Given the description of an element on the screen output the (x, y) to click on. 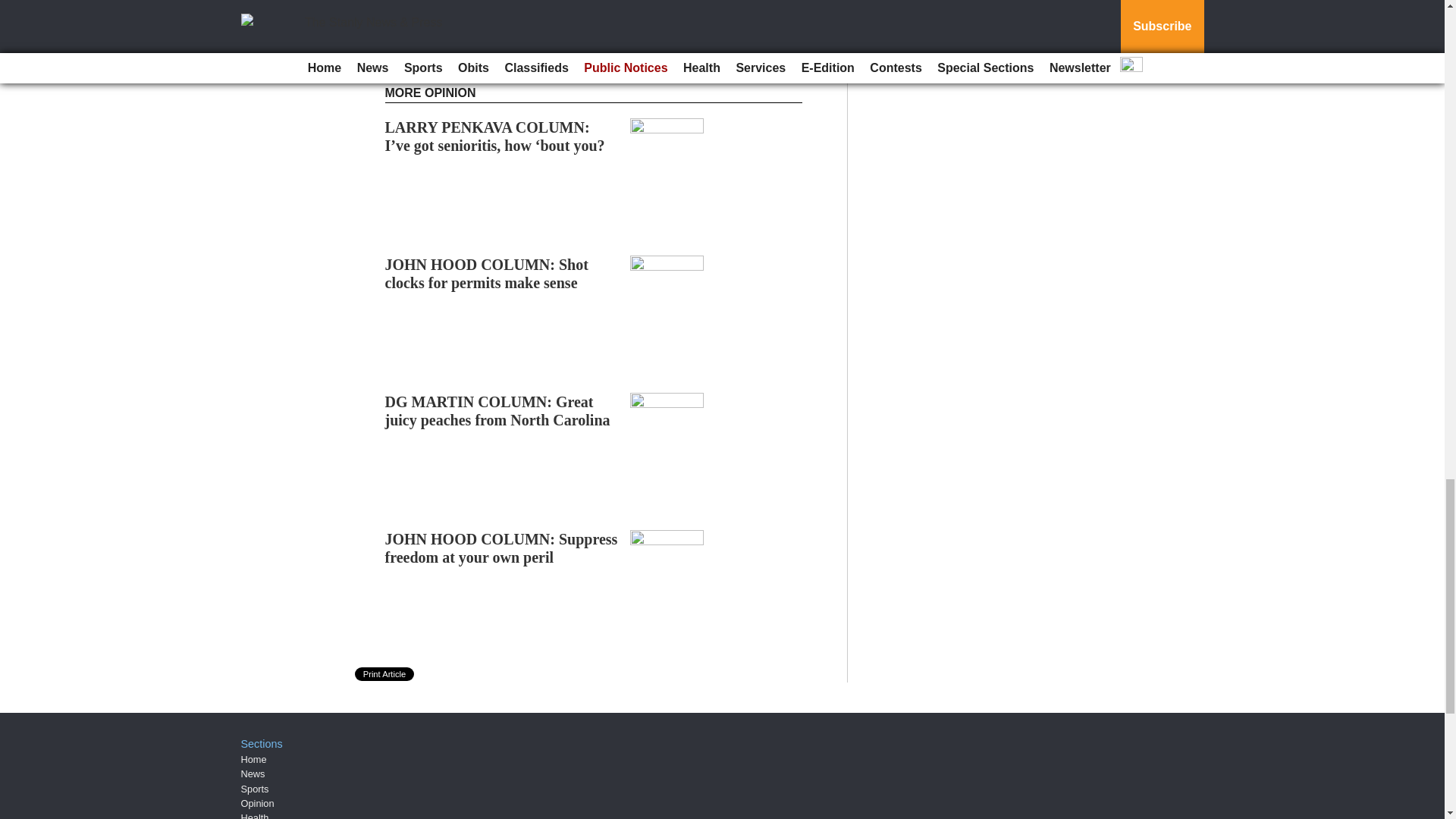
JOHN HOOD COLUMN: Suppress freedom at your own peril (501, 547)
DG MARTIN COLUMN: Great juicy peaches from North Carolina (497, 410)
JOHN HOOD COLUMN: Shot clocks for permits make sense (486, 273)
Print Article (384, 673)
DG MARTIN COLUMN: Great juicy peaches from North Carolina (497, 410)
JOHN HOOD COLUMN: Suppress freedom at your own peril (501, 547)
JOHN HOOD COLUMN: Shot clocks for permits make sense (486, 273)
